Given the description of an element on the screen output the (x, y) to click on. 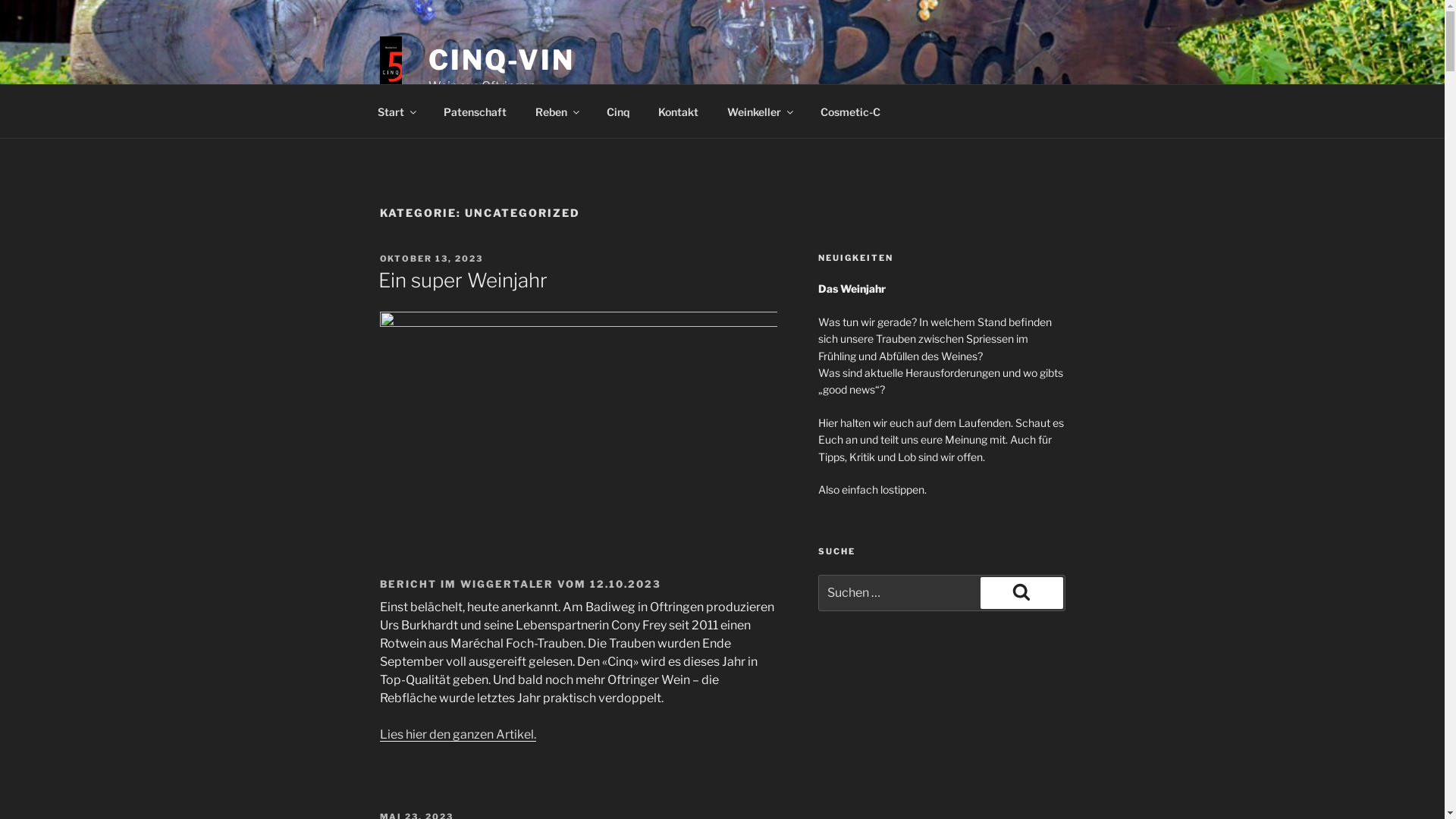
Lies hier den ganzen Artikel. Element type: text (457, 734)
Cinq Element type: text (617, 110)
OKTOBER 13, 2023 Element type: text (431, 258)
Kontakt Element type: text (677, 110)
Patenschaft Element type: text (475, 110)
Start Element type: text (395, 110)
Ein super Weinjahr Element type: text (461, 279)
Suchen Element type: text (1020, 592)
Reben Element type: text (555, 110)
Cosmetic-C Element type: text (849, 110)
CINQ-VIN Element type: text (501, 59)
Weinkeller Element type: text (759, 110)
